Given the description of an element on the screen output the (x, y) to click on. 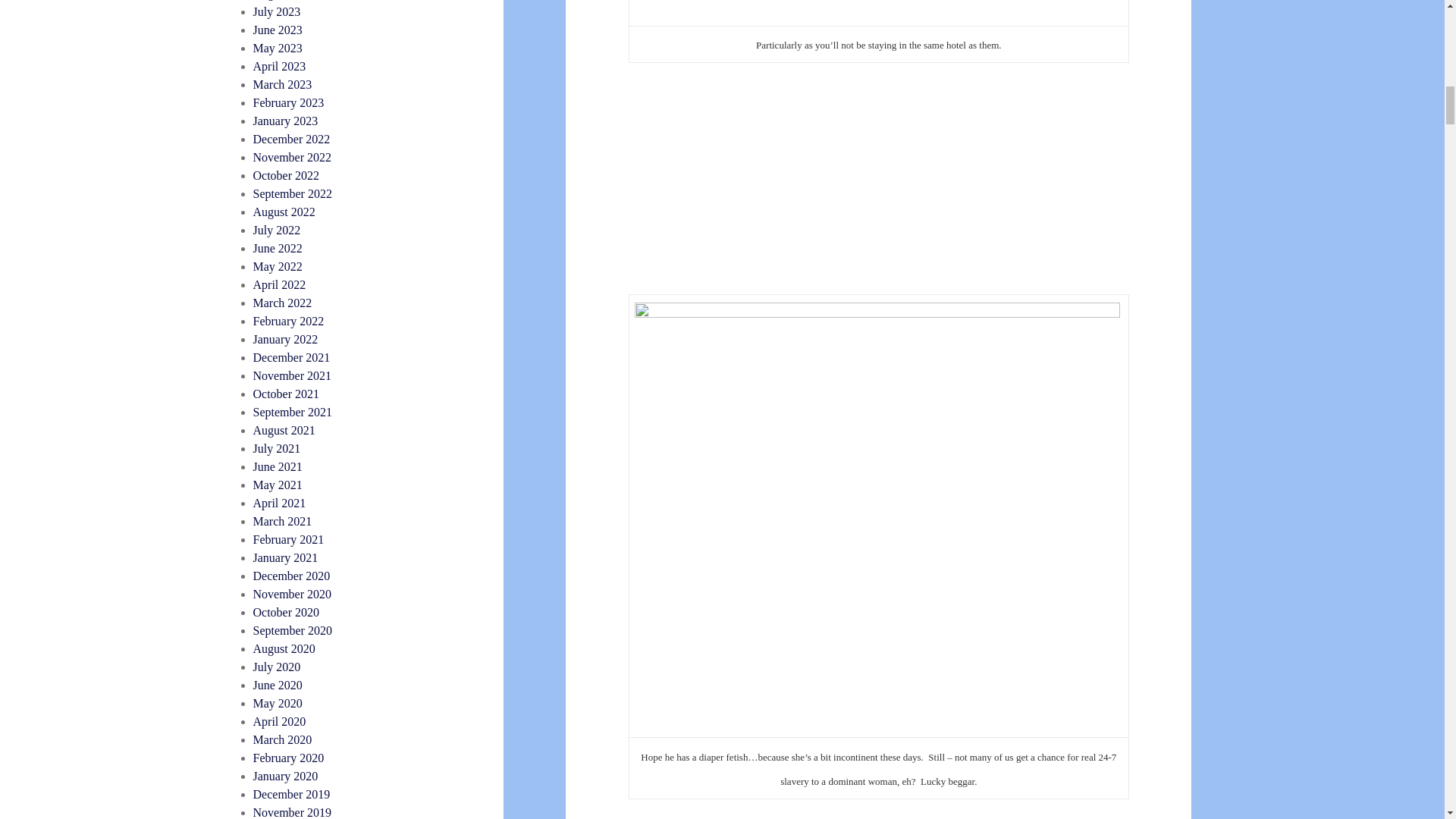
June 2022 (277, 247)
September 2022 (292, 193)
May 2022 (277, 266)
July 2023 (277, 11)
March 2023 (283, 83)
August 2022 (284, 211)
October 2022 (286, 174)
April 2023 (279, 65)
January 2023 (285, 120)
December 2022 (291, 138)
